Given the description of an element on the screen output the (x, y) to click on. 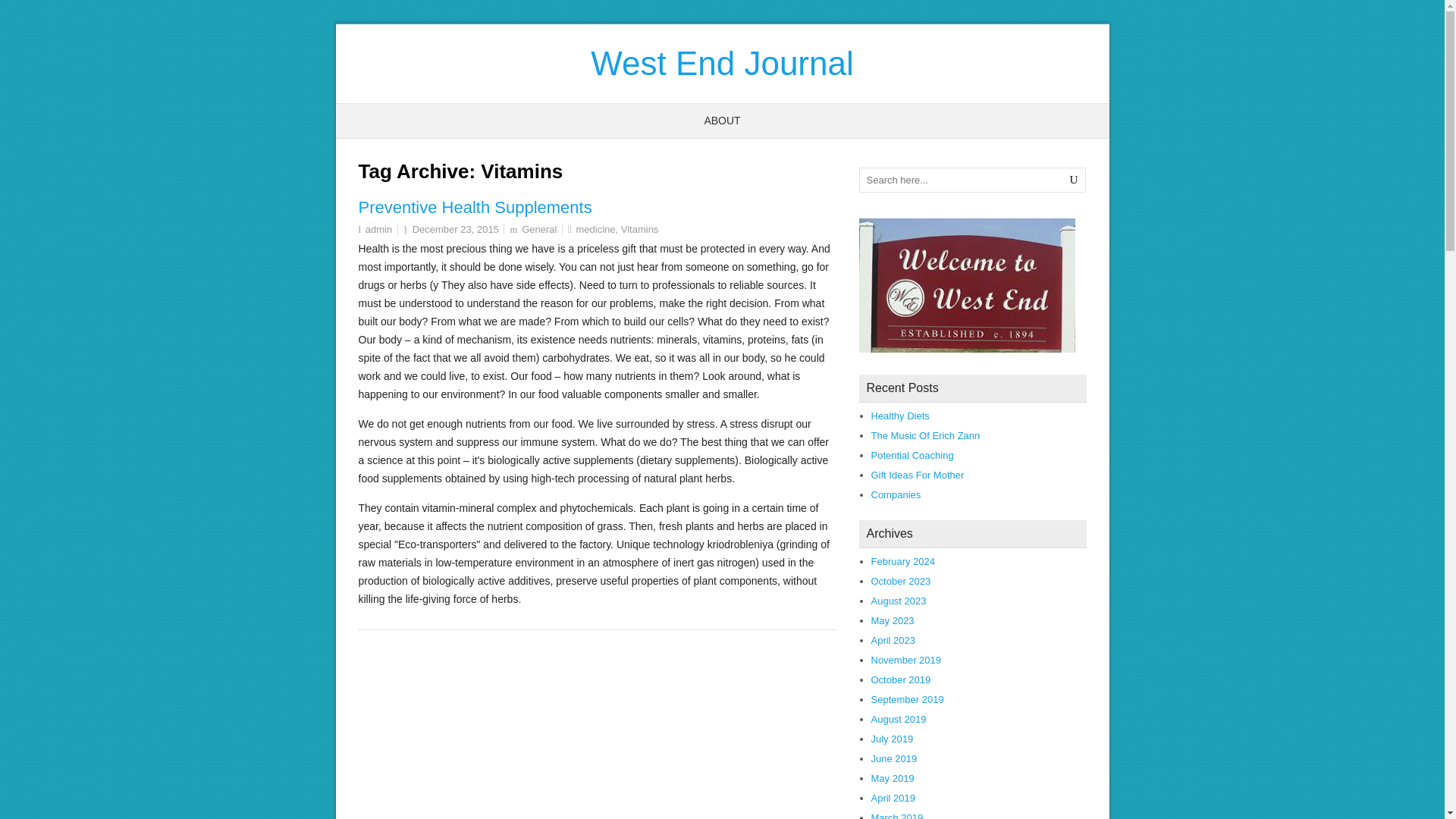
West End Journal (722, 63)
March 2019 (896, 815)
April 2023 (892, 640)
May 2023 (892, 620)
April 2019 (892, 797)
September 2019 (906, 699)
The Music Of Erich Zann (924, 435)
Posts by admin (378, 229)
Companies (895, 494)
General (538, 229)
medicine (594, 229)
July 2019 (891, 738)
U (1073, 179)
U (1073, 179)
Preventive Health Supplements (474, 207)
